Given the description of an element on the screen output the (x, y) to click on. 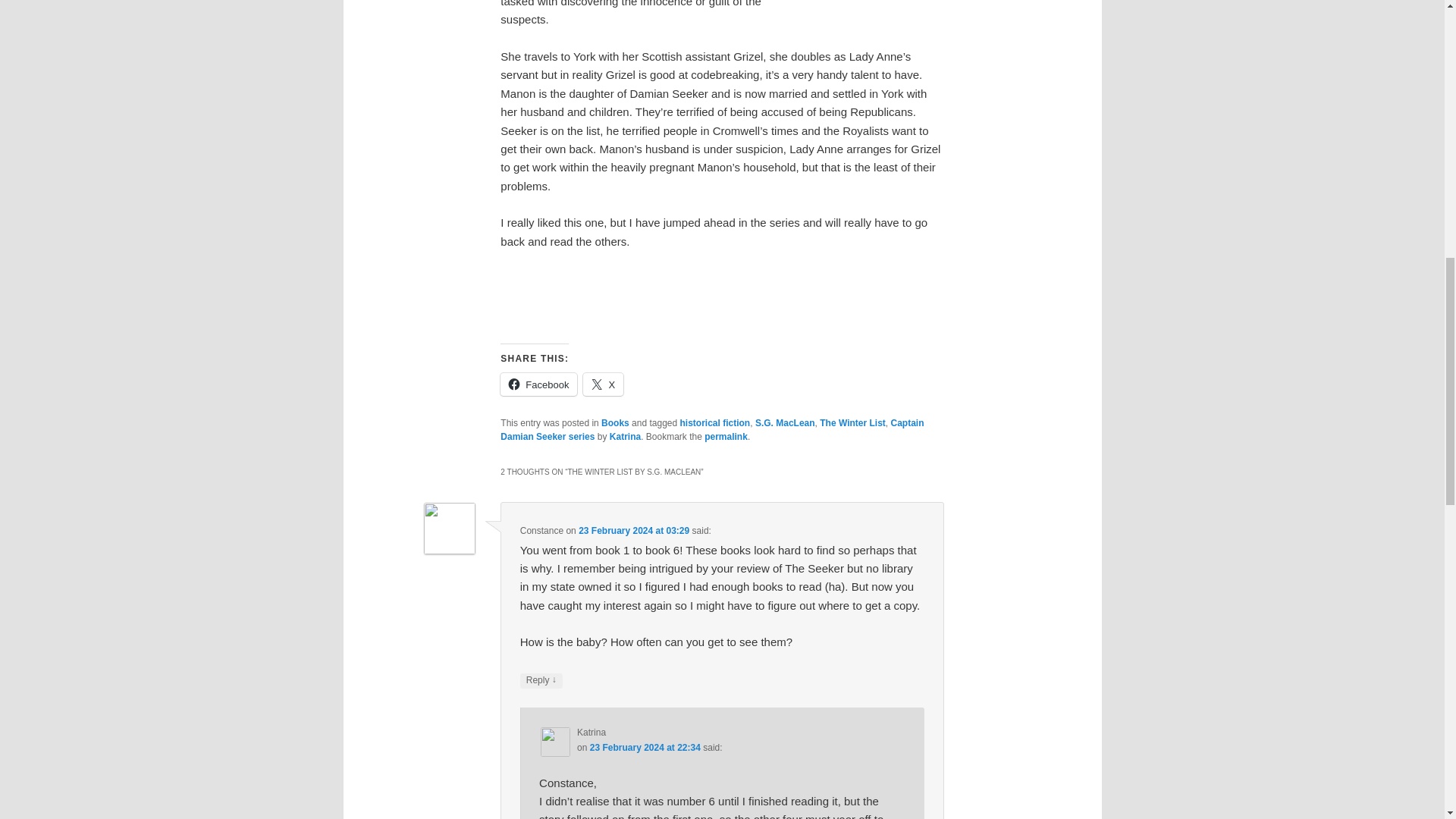
Books (614, 422)
Katrina (625, 436)
S.G. MacLean (785, 422)
23 February 2024 at 03:29 (633, 530)
permalink (726, 436)
Facebook (538, 384)
historical fiction (715, 422)
23 February 2024 at 22:34 (644, 747)
Click to share on X (603, 384)
Captain Damian Seeker series (711, 429)
The Winter List (852, 422)
X (603, 384)
Click to share on Facebook (538, 384)
